Given the description of an element on the screen output the (x, y) to click on. 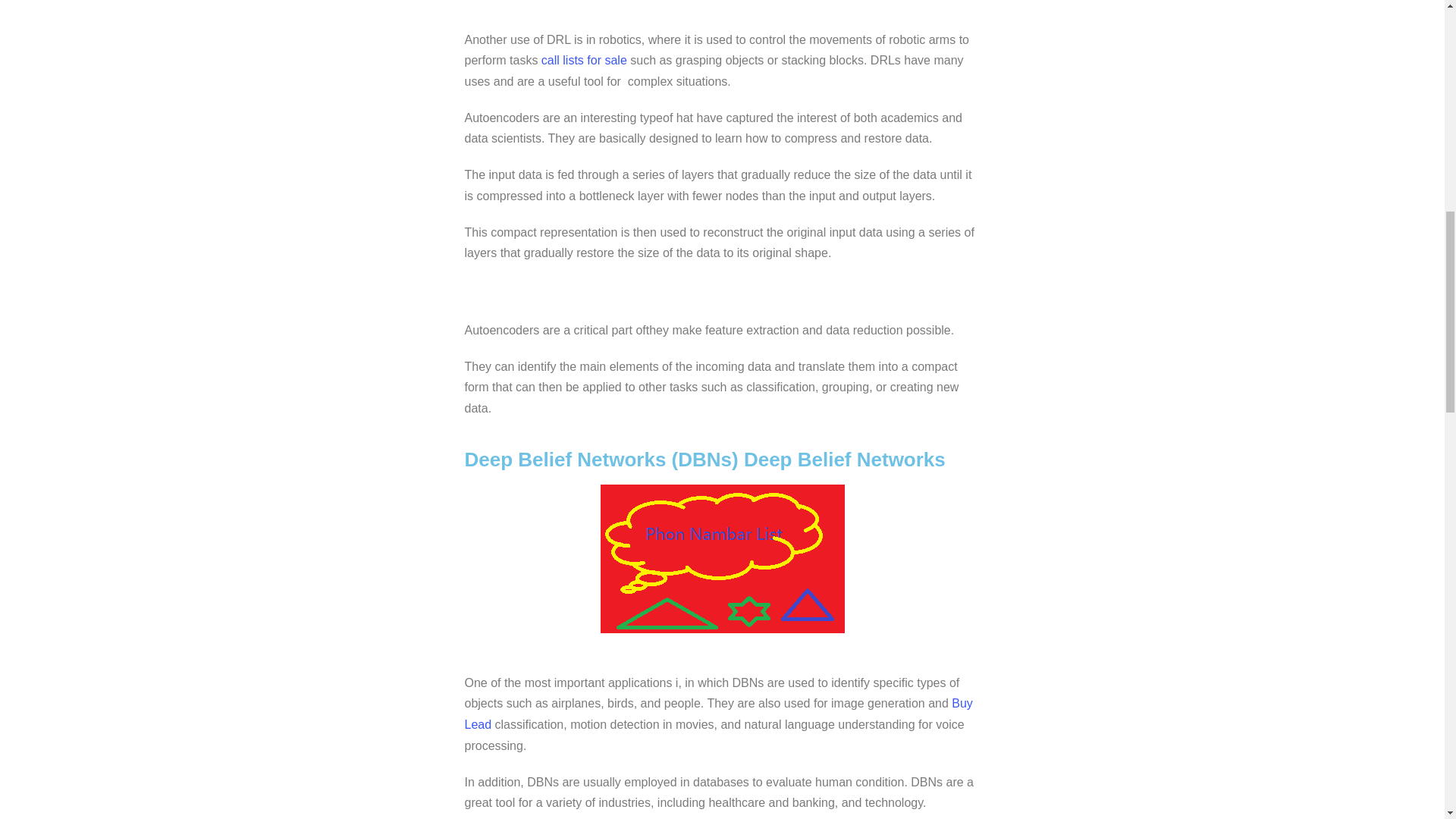
Buy Lead (718, 713)
call lists for sale (584, 60)
